Given the description of an element on the screen output the (x, y) to click on. 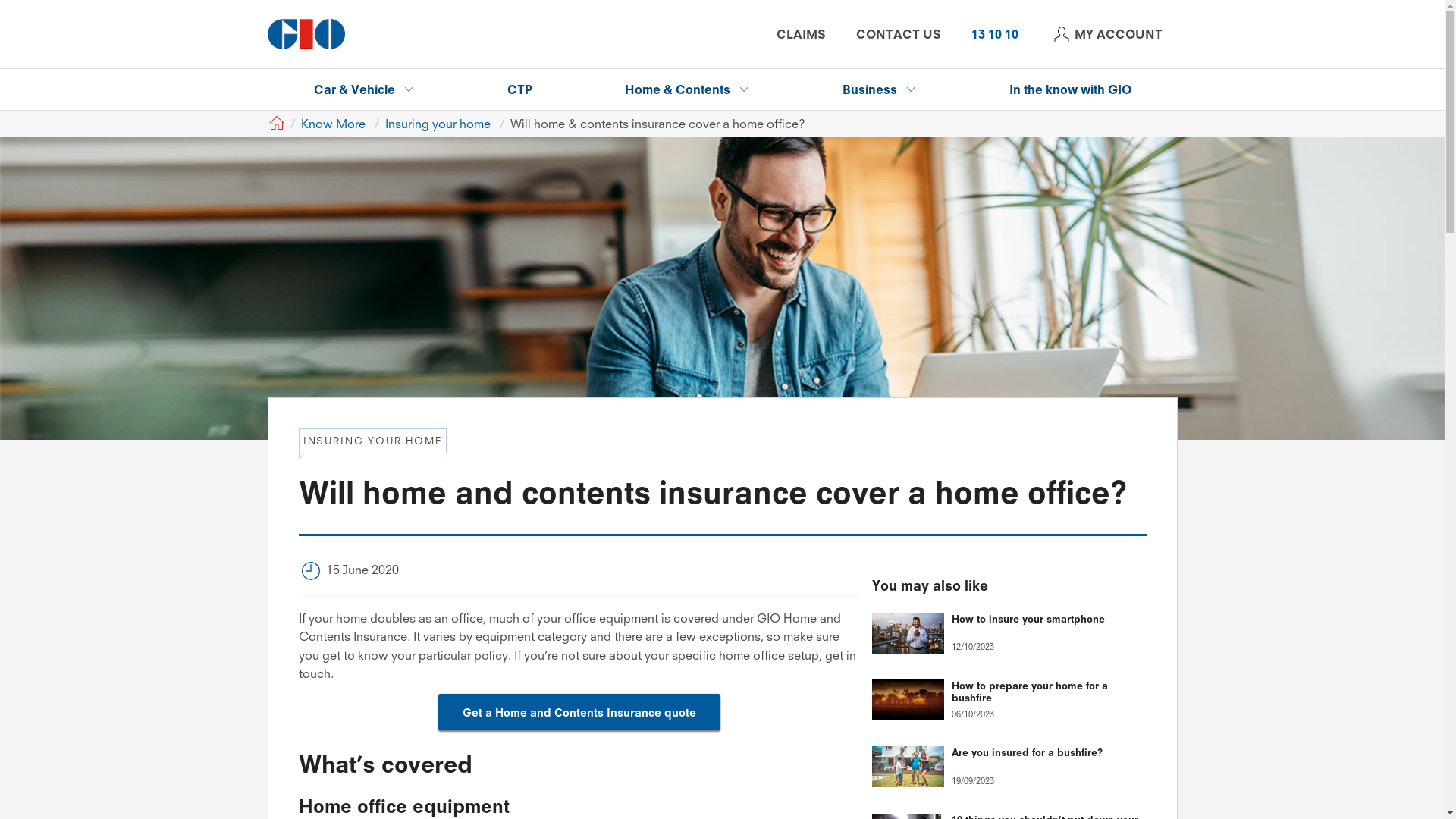
CTP Element type: text (519, 89)
Know More Element type: text (333, 123)
CLAIMS Element type: text (800, 34)
How to prepare your home for a bushfire Element type: text (1047, 692)
Insuring your home Element type: text (437, 123)
Business Element type: text (879, 89)
GIO Element type: text (274, 123)
13 10 10 Element type: text (993, 34)
Man working at home on laptop Element type: hover (722, 287)
How to insure your smartphone Element type: text (1047, 619)
Home & Contents Element type: text (686, 89)
MY ACCOUNT Element type: text (1104, 34)
In the know with GIO Element type: text (1070, 89)
CONTACT US Element type: text (897, 34)
Are you insured for a bushfire? Element type: text (1047, 753)
Get a Home and Contents Insurance quote Element type: text (579, 711)
Car & Vehicle Element type: text (363, 89)
